Given the description of an element on the screen output the (x, y) to click on. 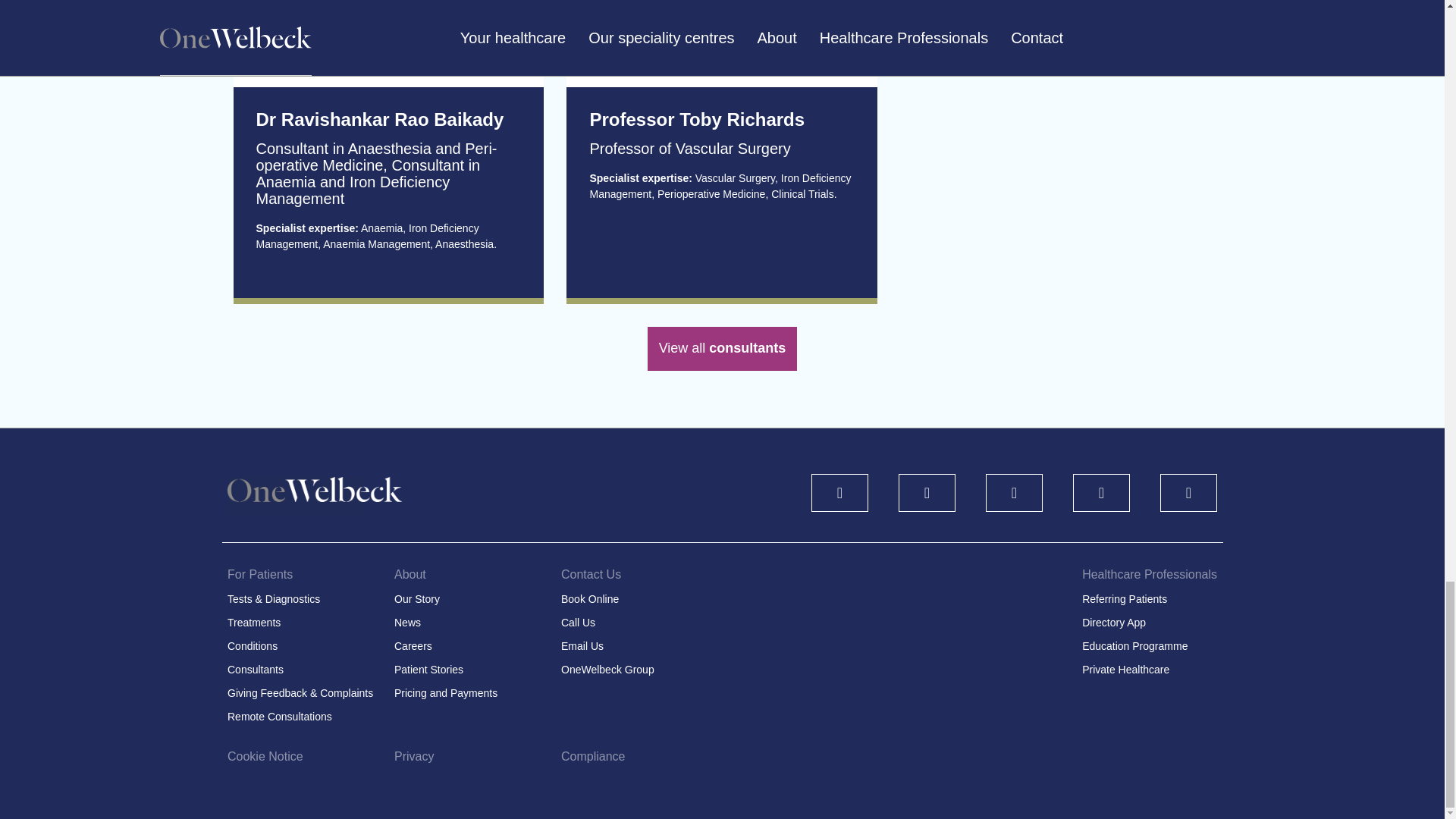
View all consultants (722, 348)
News (407, 622)
About (410, 574)
For Patients (259, 574)
Conditions (252, 645)
Treatments (254, 622)
Remote Consultations (279, 716)
Our Story (416, 598)
